Given the description of an element on the screen output the (x, y) to click on. 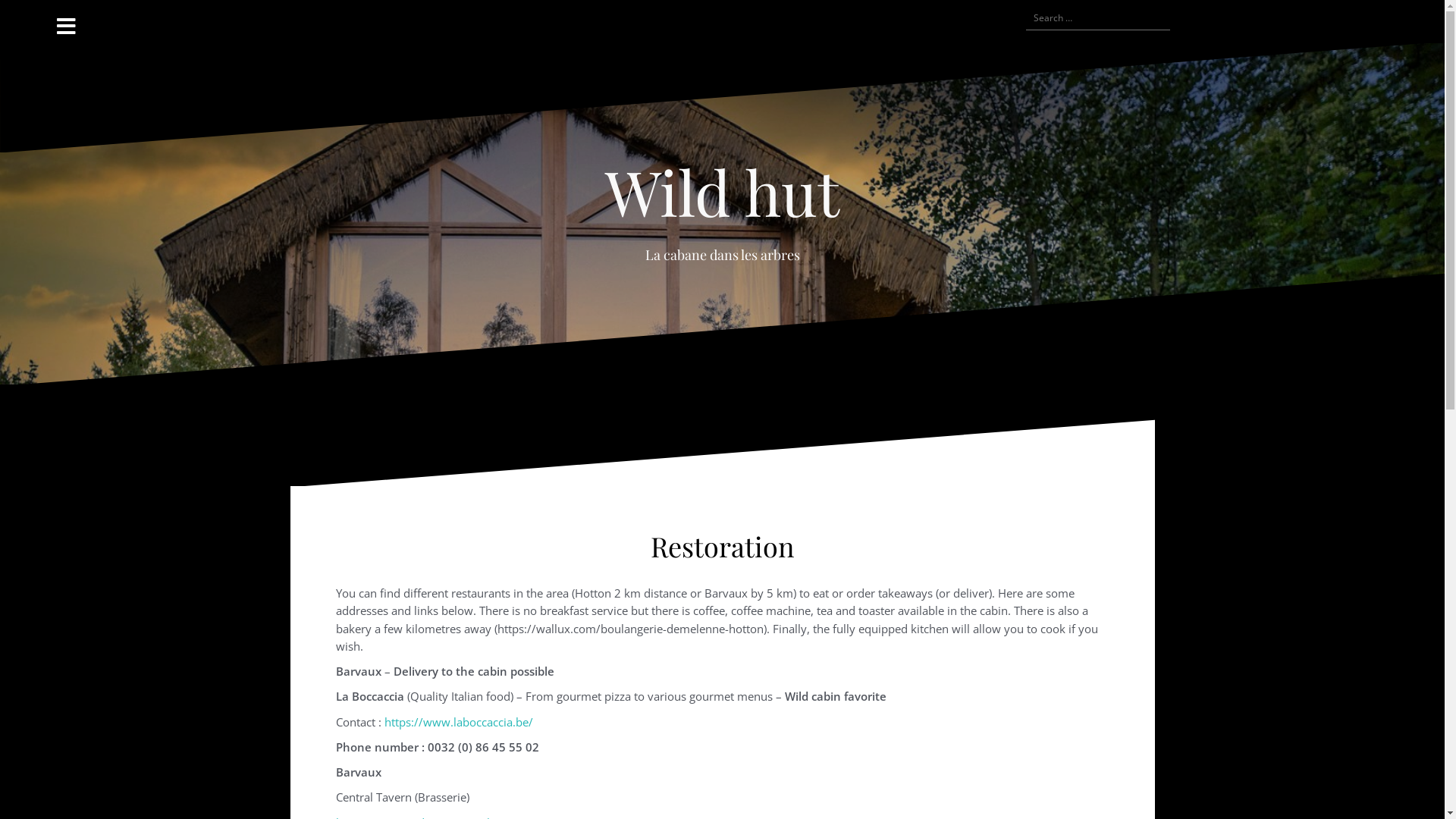
Search Element type: text (29, 20)
https://www.laboccaccia.be/ Element type: text (457, 721)
Wild hut Element type: text (722, 190)
Skip to content Element type: text (0, 0)
